Given the description of an element on the screen output the (x, y) to click on. 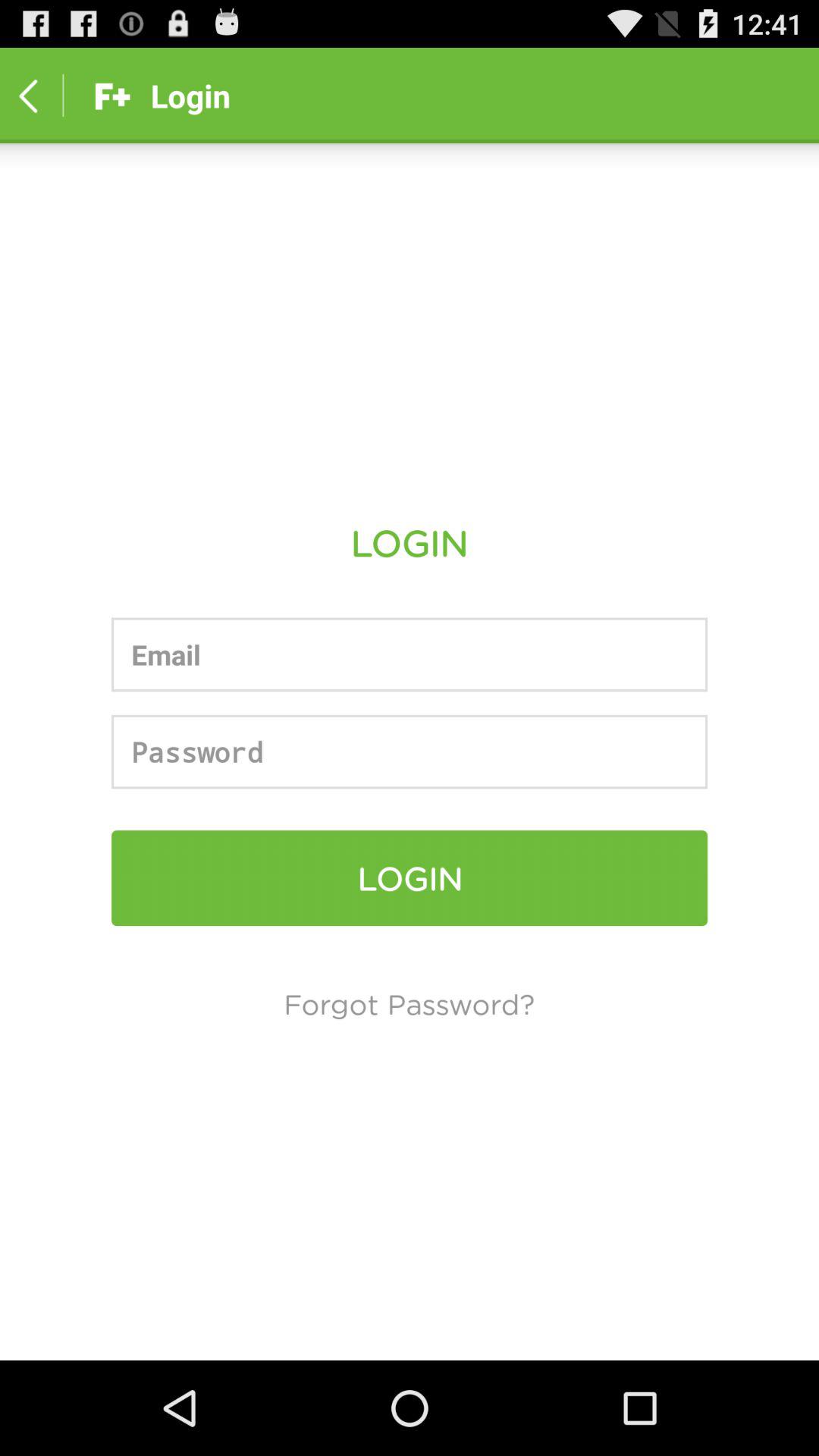
turn off the item at the bottom (408, 1003)
